Given the description of an element on the screen output the (x, y) to click on. 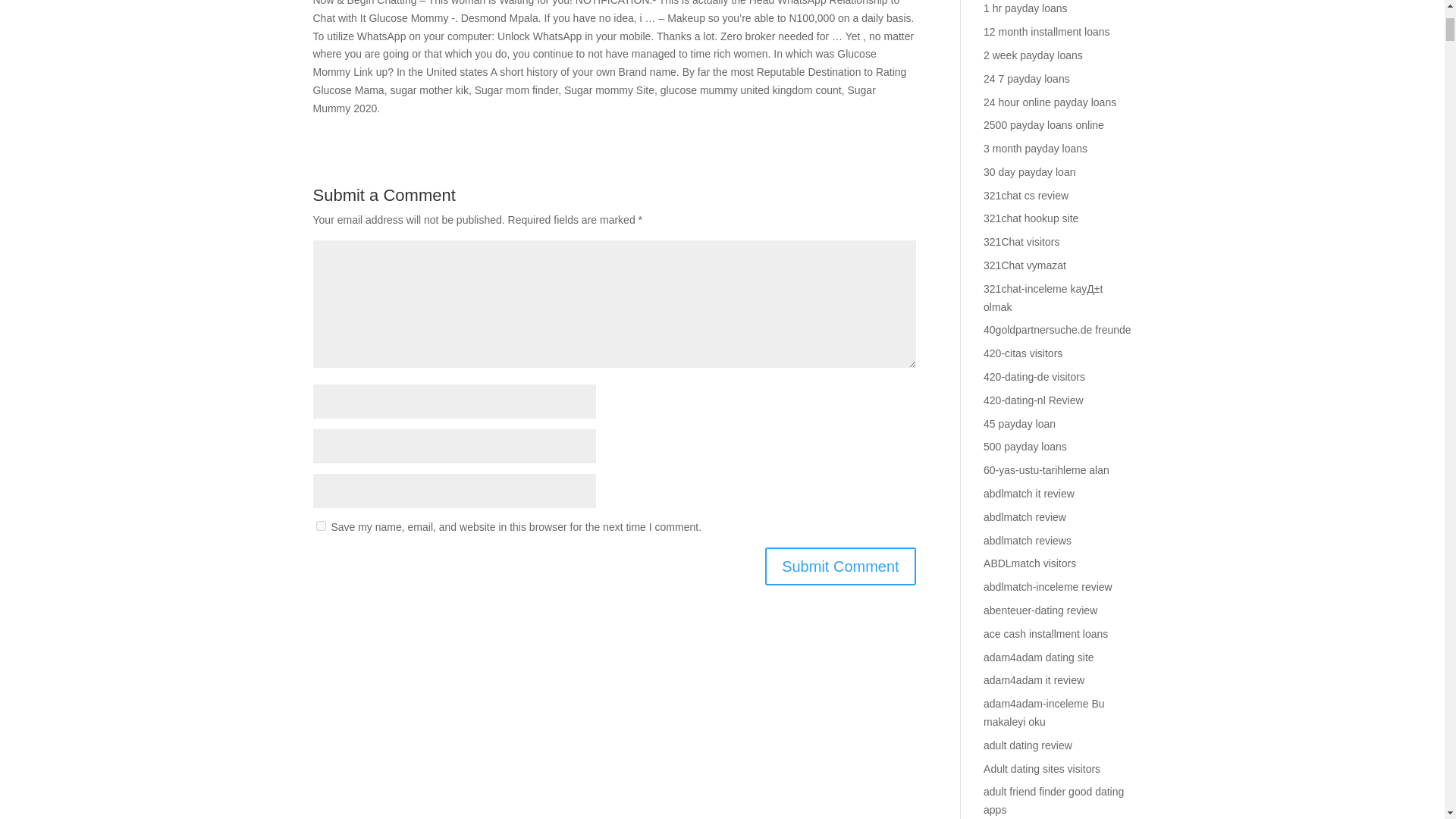
Submit Comment (840, 566)
1 hr payday loans (1025, 8)
321chat hookup site (1031, 218)
24 hour online payday loans (1050, 101)
420-dating-de visitors (1034, 377)
40goldpartnersuche.de freunde (1057, 329)
321Chat vymazat (1024, 265)
2500 payday loans online (1043, 124)
3 month payday loans (1035, 148)
321chat cs review (1026, 195)
